Given the description of an element on the screen output the (x, y) to click on. 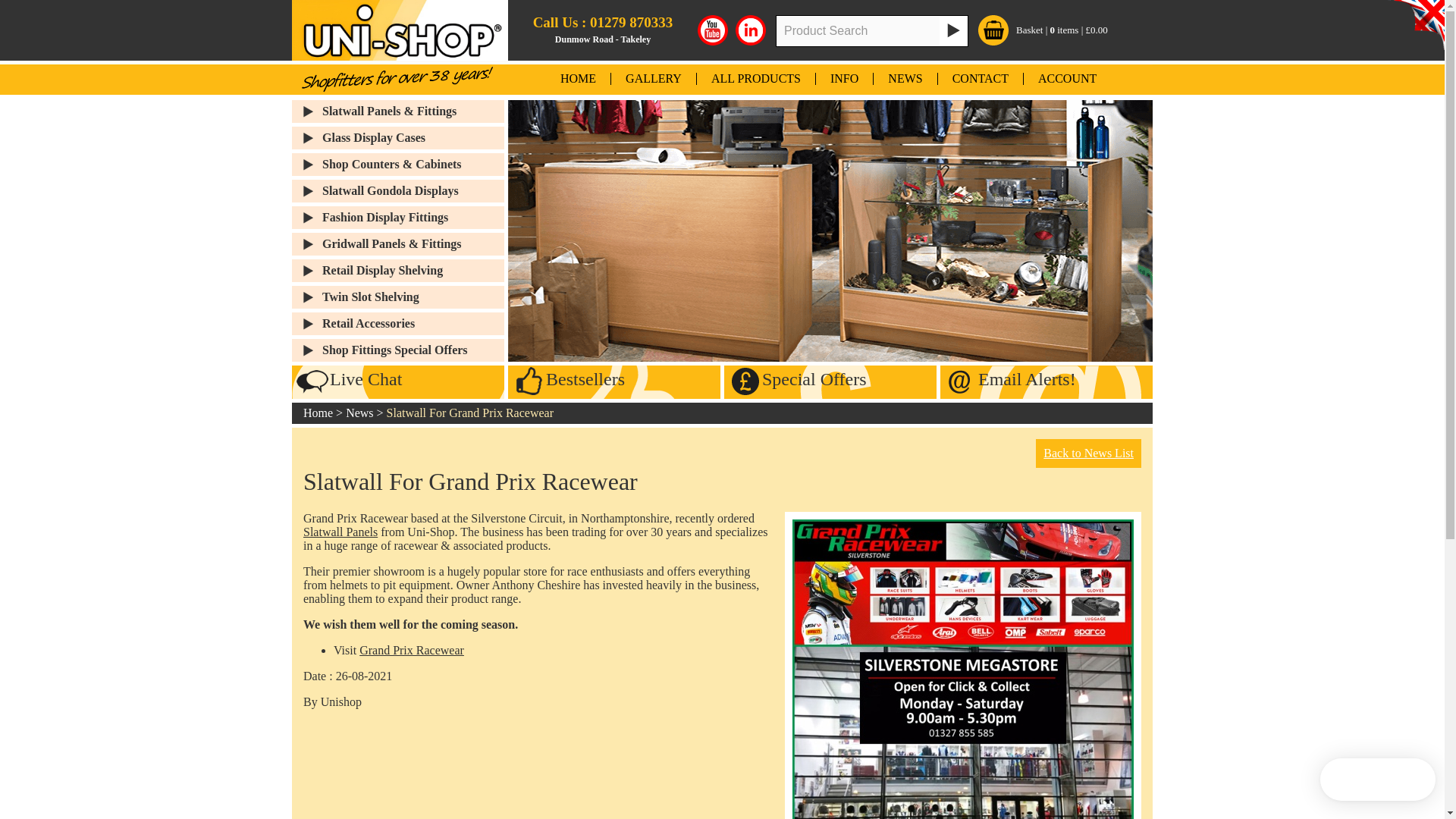
Shop Fittings Special Offers (412, 350)
GALLERY (654, 78)
Home (317, 412)
Smartsupp widget button (1377, 779)
Slatwall Gondola Displays (412, 190)
News (359, 412)
YouTube (712, 30)
NEWS (905, 78)
Fashion Display Fittings (412, 217)
Slatwall Panels (339, 531)
INFO (844, 78)
Unishop LinkedIn (750, 30)
Back to News List (1088, 452)
Twin Slot Shelving (412, 296)
Retail Accessories (412, 323)
